Given the description of an element on the screen output the (x, y) to click on. 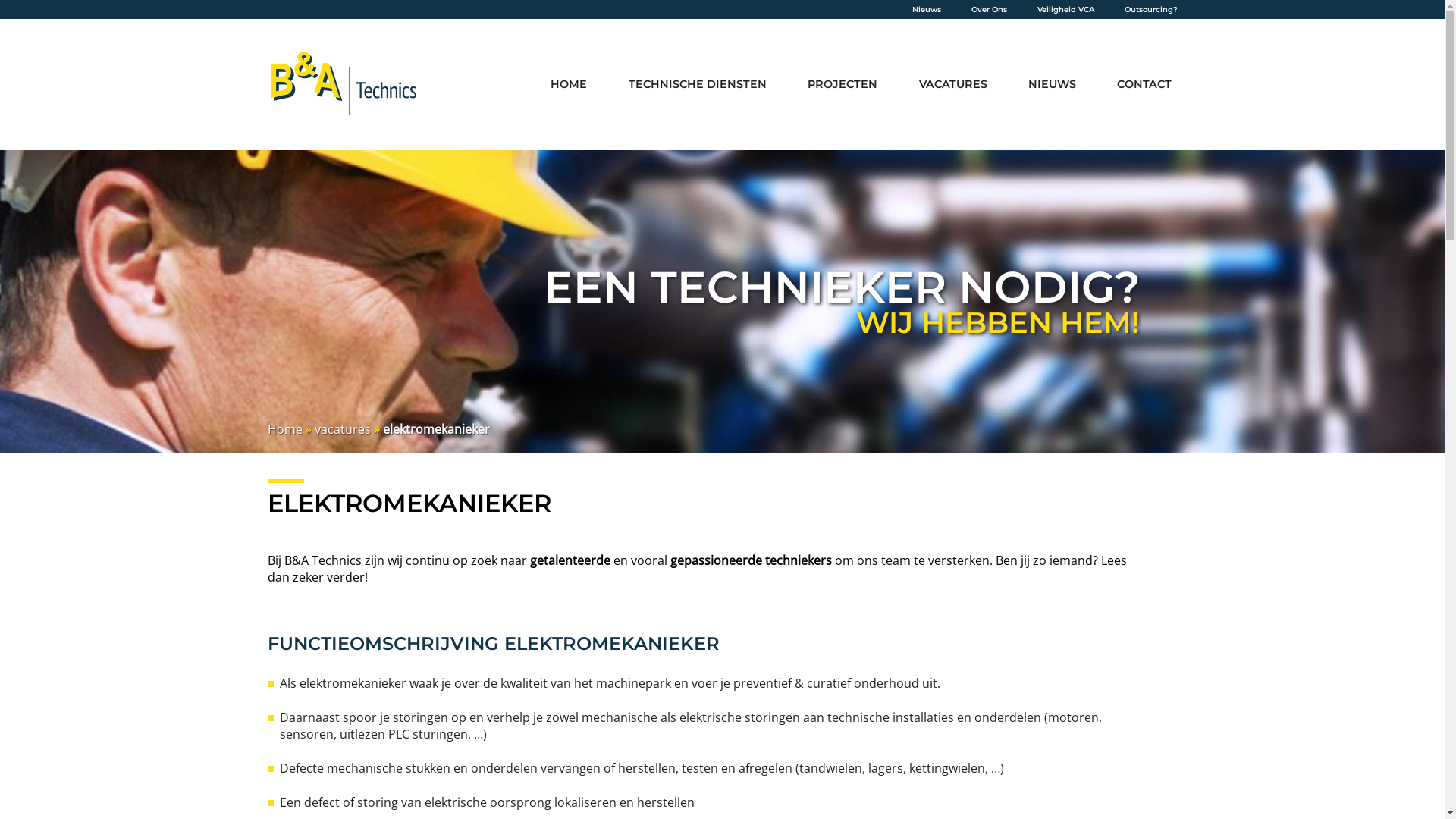
Over Ons Element type: text (988, 9)
Upload Element type: text (722, 7)
Skip to main content Element type: text (0, 0)
NIEUWS Element type: text (1051, 85)
TECHNISCHE DIENSTEN Element type: text (697, 85)
Nieuws Element type: text (925, 9)
CONTACT Element type: text (1143, 85)
PROJECTEN Element type: text (842, 85)
Outsourcing? Element type: text (1149, 9)
vacatures Element type: text (341, 428)
Veiligheid VCA Element type: text (1065, 9)
Home Element type: text (283, 428)
HOME Element type: text (568, 85)
VACATURES Element type: text (952, 85)
